Given the description of an element on the screen output the (x, y) to click on. 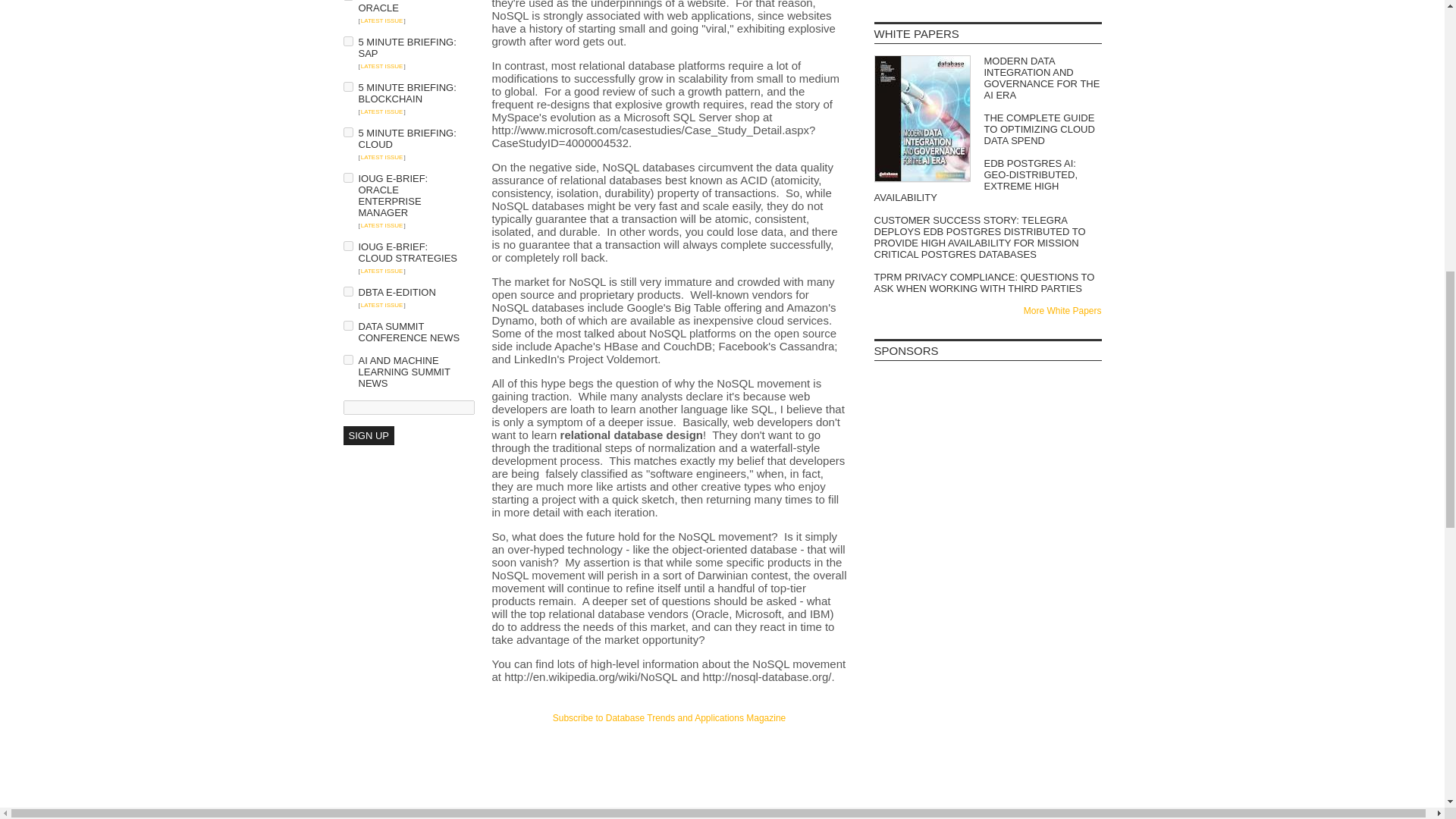
on (347, 291)
3rd party ad content (668, 753)
3rd party ad content (986, 500)
Sign Up (367, 435)
on (347, 132)
EDB Postgres Ai: Geo-distributed, Extreme High Availability (986, 180)
3rd party ad content (986, 591)
3rd party ad content (986, 409)
on (347, 86)
on (347, 40)
